Given the description of an element on the screen output the (x, y) to click on. 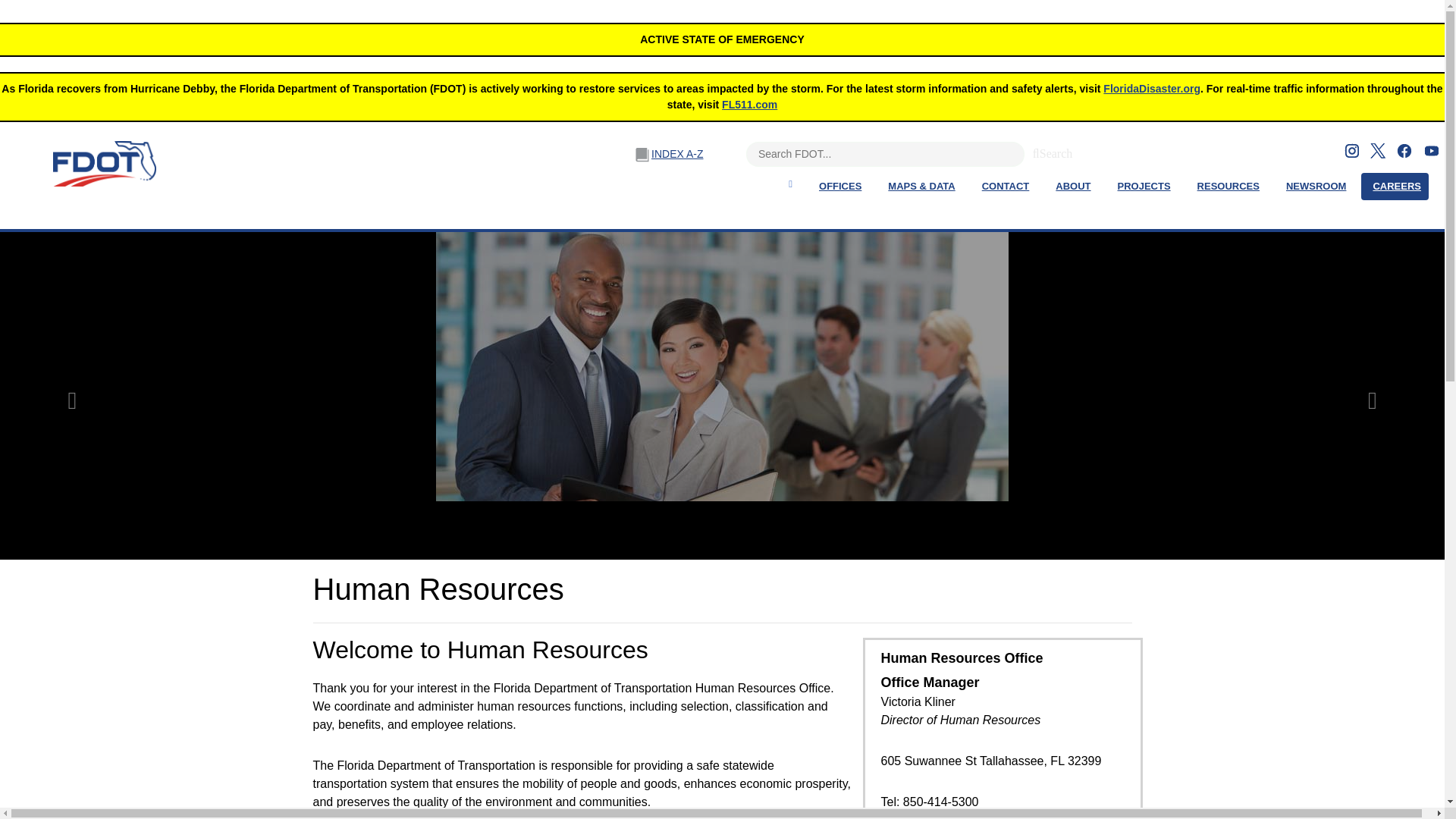
X icon (1378, 150)
youtube (1431, 150)
Instgram Icon (1351, 150)
PROJECTS (1143, 185)
FL511.com (749, 104)
RESOURCES (1227, 185)
Offices page (839, 185)
CAREERS (1396, 185)
Search input (885, 154)
youtube icon (1431, 150)
